Given the description of an element on the screen output the (x, y) to click on. 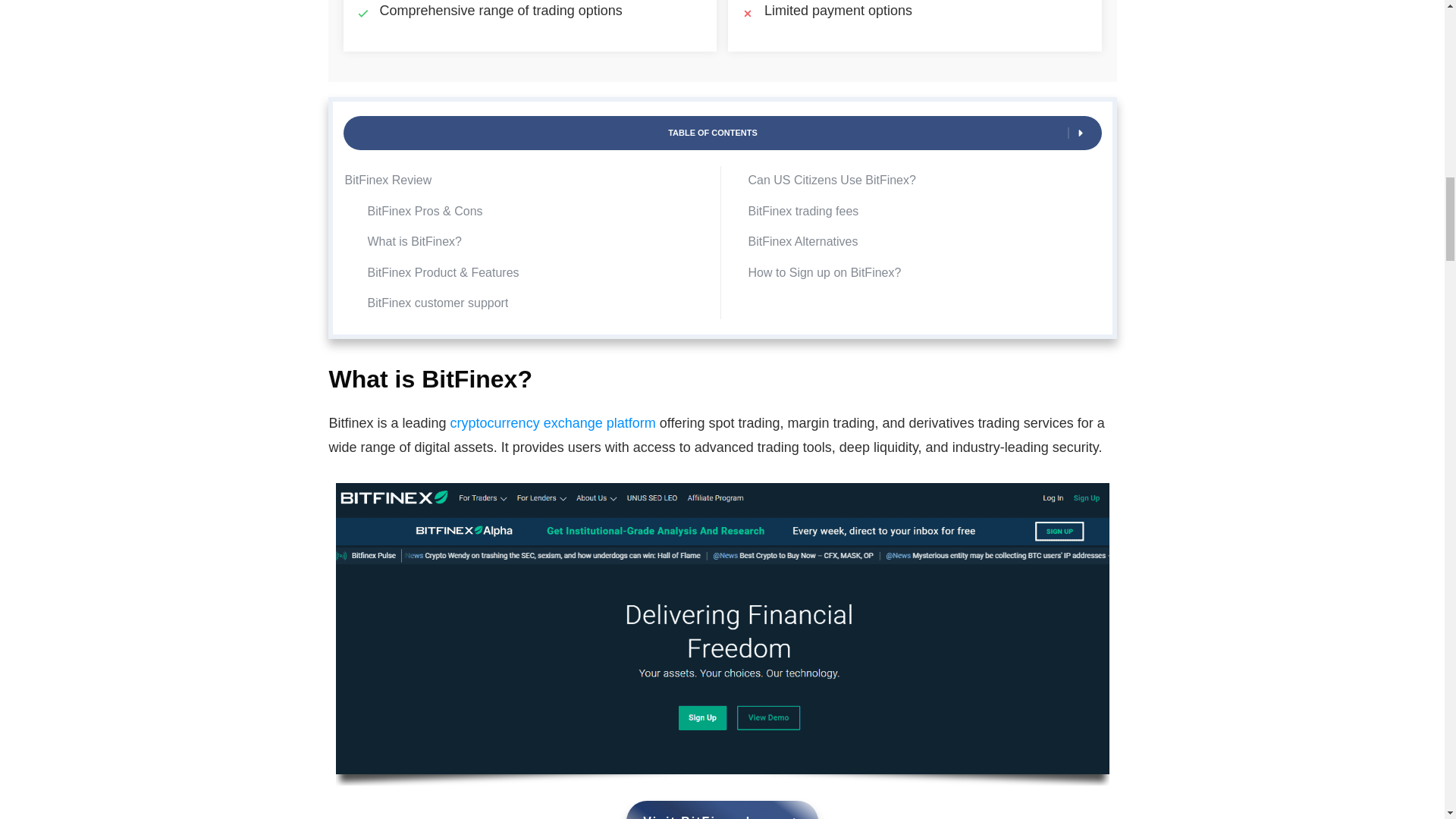
How to Sign up on BitFinex? (824, 272)
BitFinex customer support (437, 303)
What is BitFinex? (413, 241)
BitFinex trading fees (803, 211)
Can US Citizens Use BitFinex? (831, 180)
BitFinex Alternatives (802, 241)
BitFinex Review (386, 180)
